Given the description of an element on the screen output the (x, y) to click on. 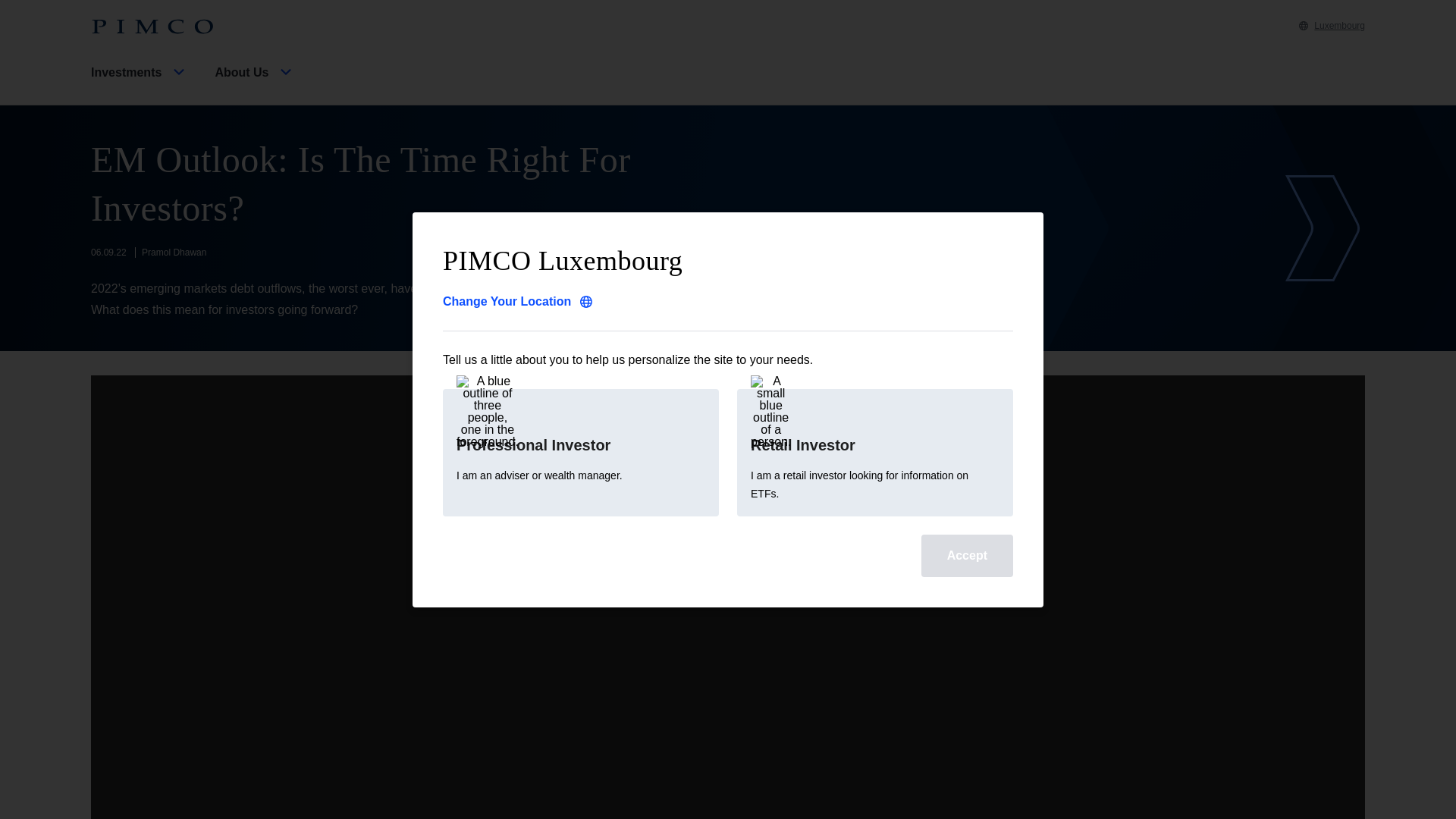
Investments (140, 84)
PIMCO Home (152, 27)
Luxembourg (1331, 25)
About Us (255, 84)
